Given the description of an element on the screen output the (x, y) to click on. 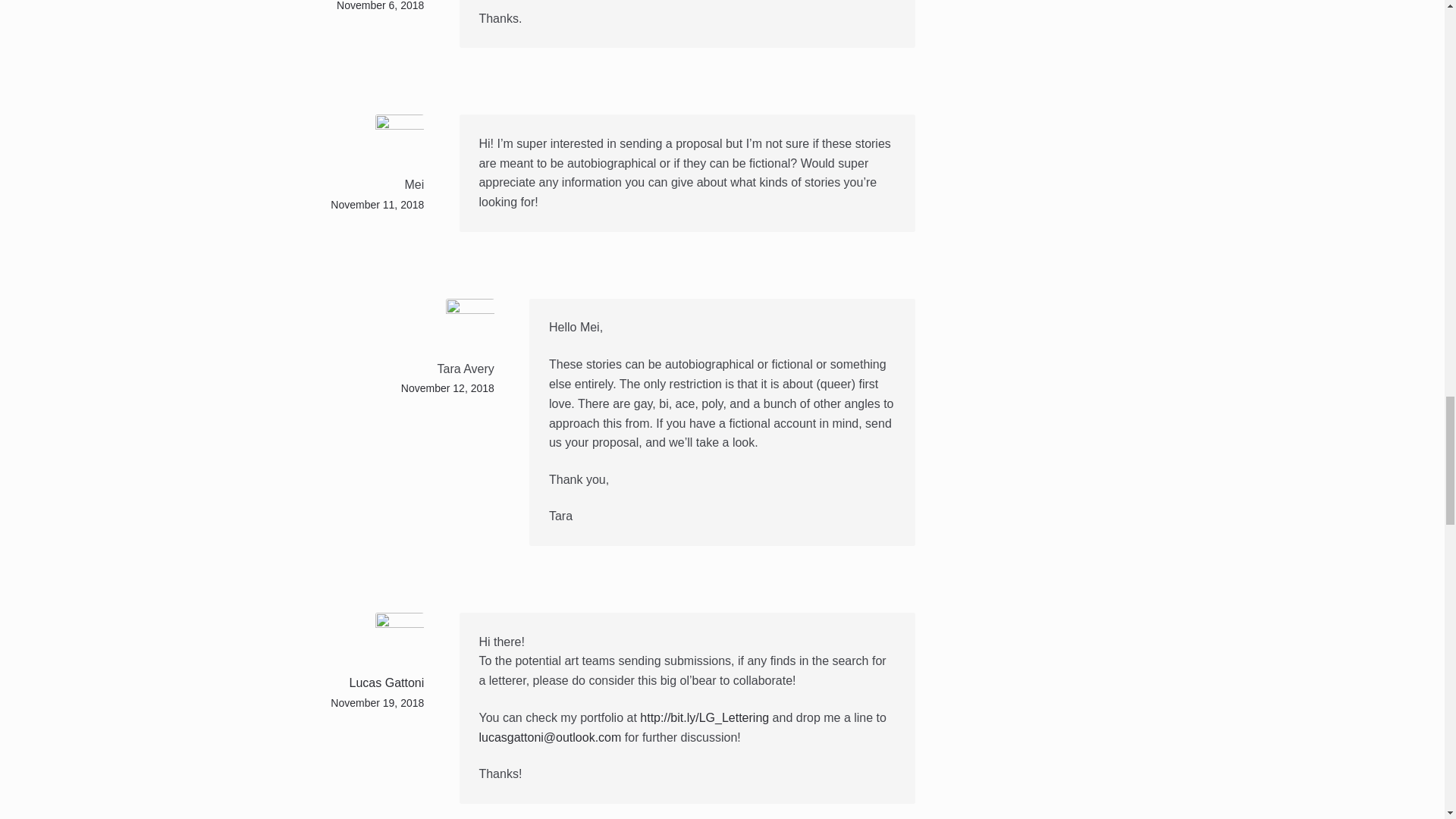
November 6, 2018 (379, 5)
November 11, 2018 (376, 204)
November 12, 2018 (448, 387)
